Given the description of an element on the screen output the (x, y) to click on. 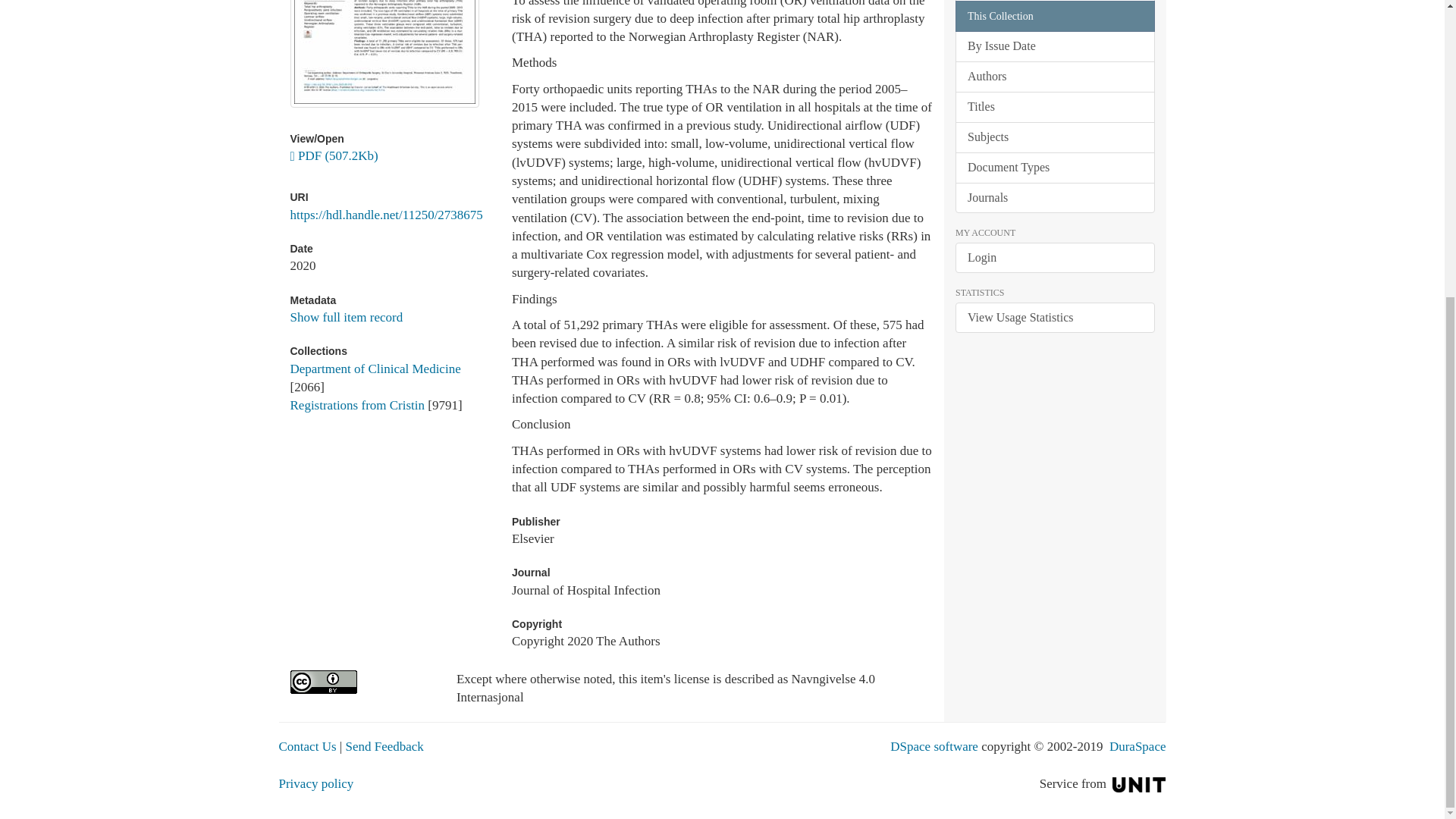
Show full item record (346, 317)
Department of Clinical Medicine (374, 368)
Unit (1139, 783)
Registrations from Cristin (357, 405)
Navngivelse 4.0 Internasjonal (360, 681)
